Given the description of an element on the screen output the (x, y) to click on. 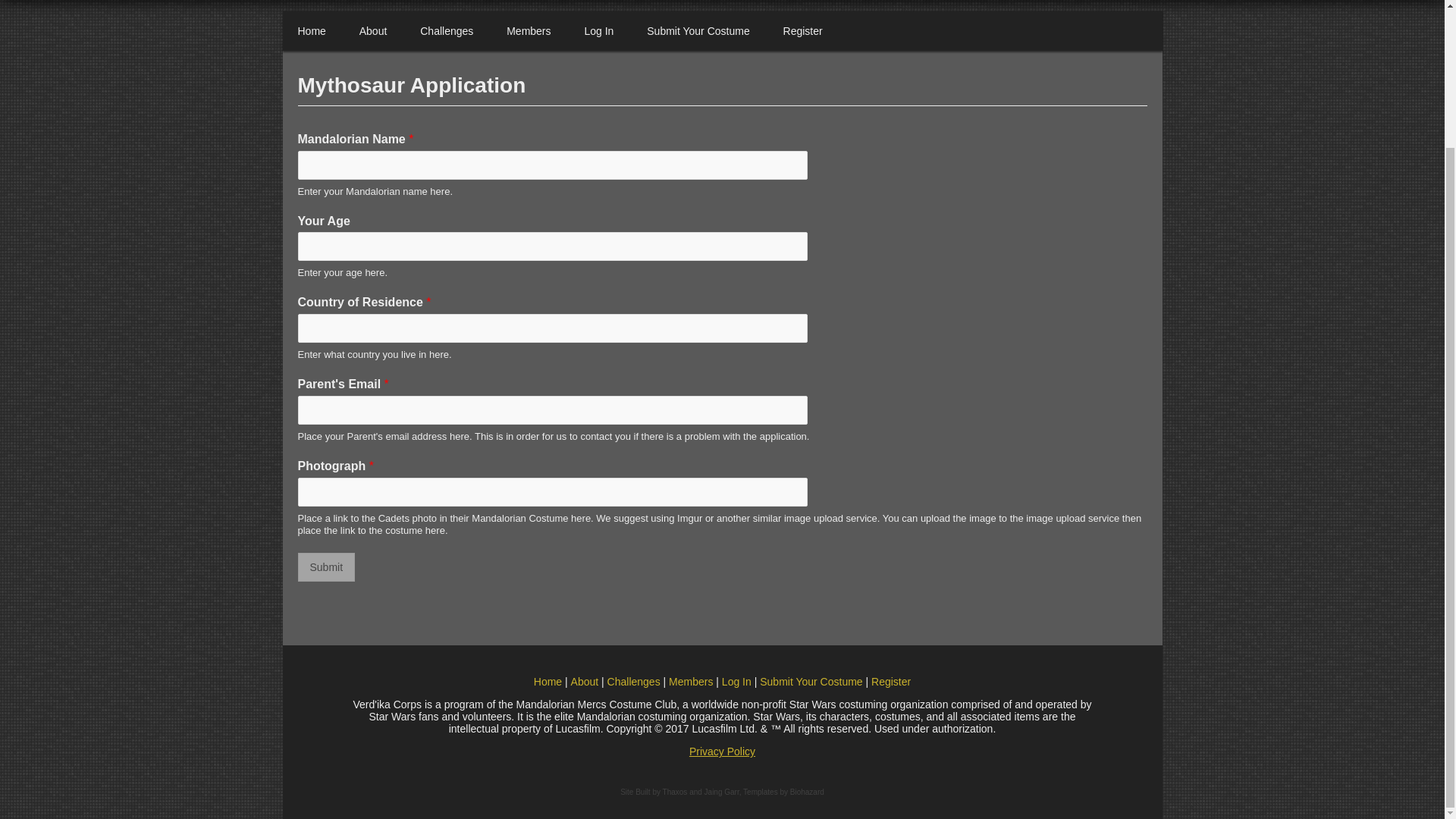
Home (311, 30)
About (584, 681)
Submit (326, 566)
Members (529, 30)
Log In (598, 30)
Home (548, 681)
Challenges (445, 30)
About (373, 30)
Submit Your Costume (697, 30)
Register (803, 30)
